Given the description of an element on the screen output the (x, y) to click on. 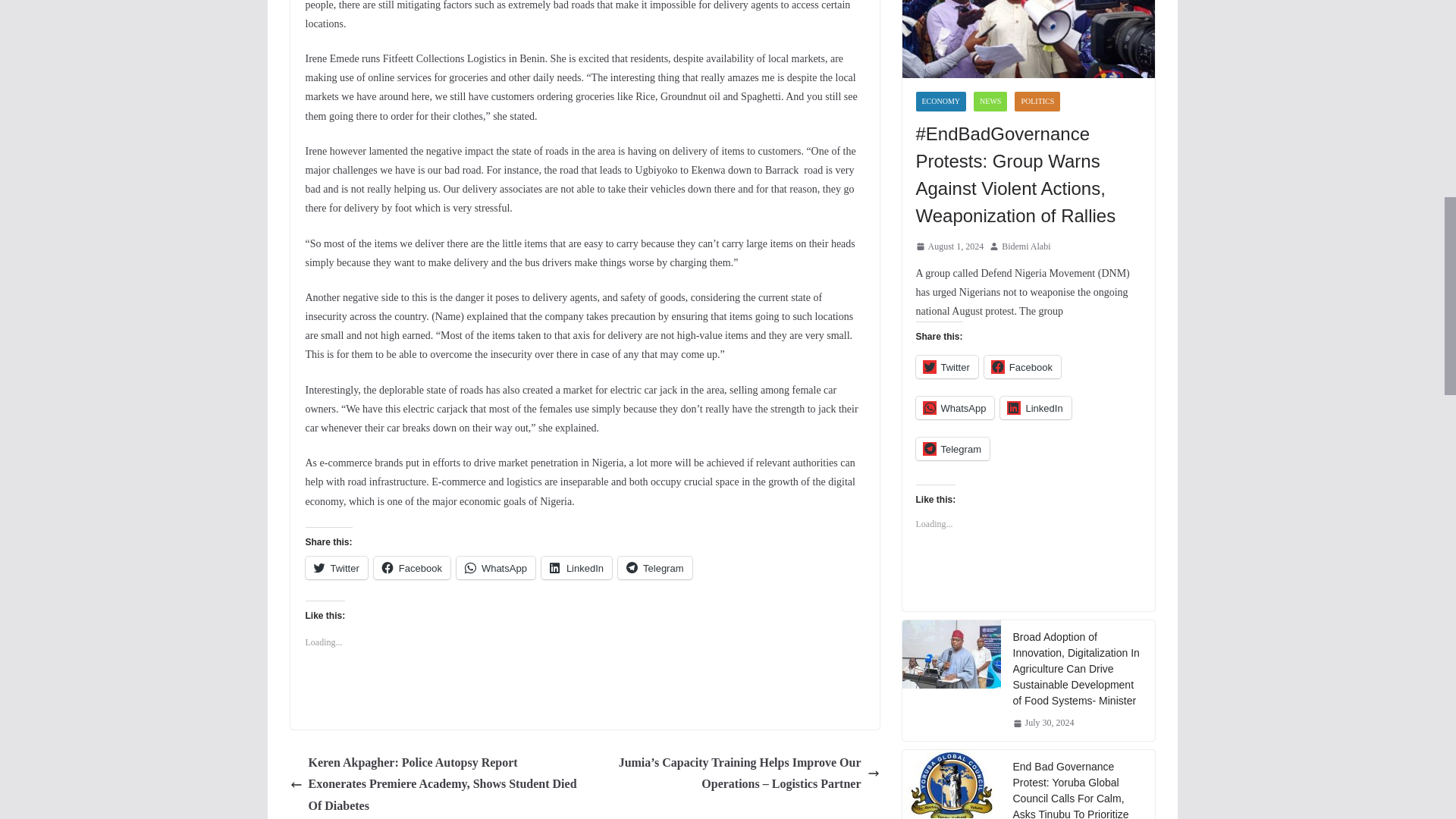
Click to share on Twitter (335, 567)
Twitter (335, 567)
Facebook (411, 567)
Click to share on LinkedIn (576, 567)
Telegram (654, 567)
LinkedIn (576, 567)
Click to share on Facebook (411, 567)
WhatsApp (496, 567)
Click to share on WhatsApp (496, 567)
